Given the description of an element on the screen output the (x, y) to click on. 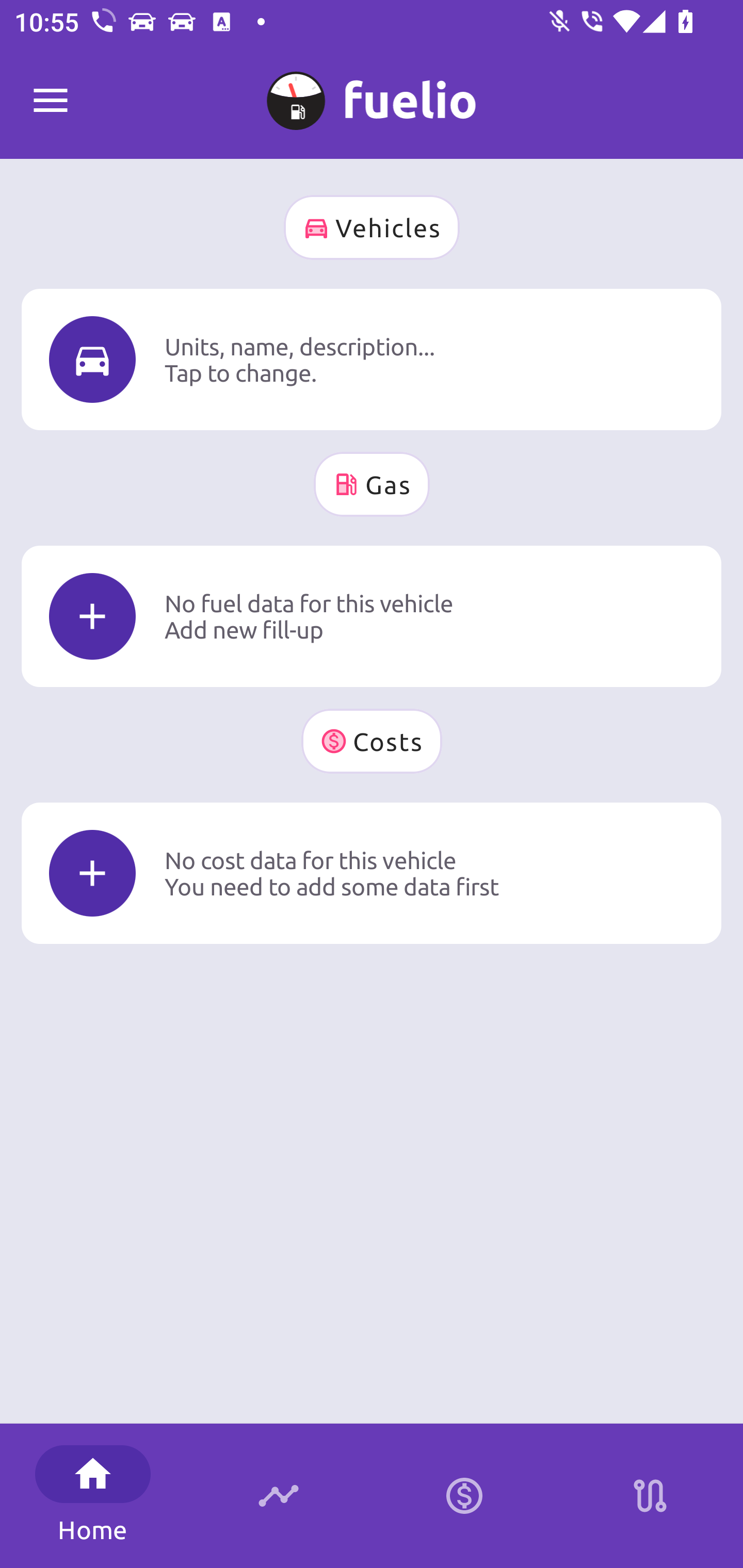
M My Car 0 km (371, 92)
Fuelio (50, 101)
Vehicles (371, 227)
Icon Units, name, description...
Tap to change. (371, 358)
Icon (92, 359)
Gas (371, 484)
Icon No fuel data for this vehicle
Add new fill-up (371, 615)
Icon (92, 616)
Costs (371, 740)
Icon (92, 873)
Timeline (278, 1495)
Calculator (464, 1495)
Stations on route (650, 1495)
